Given the description of an element on the screen output the (x, y) to click on. 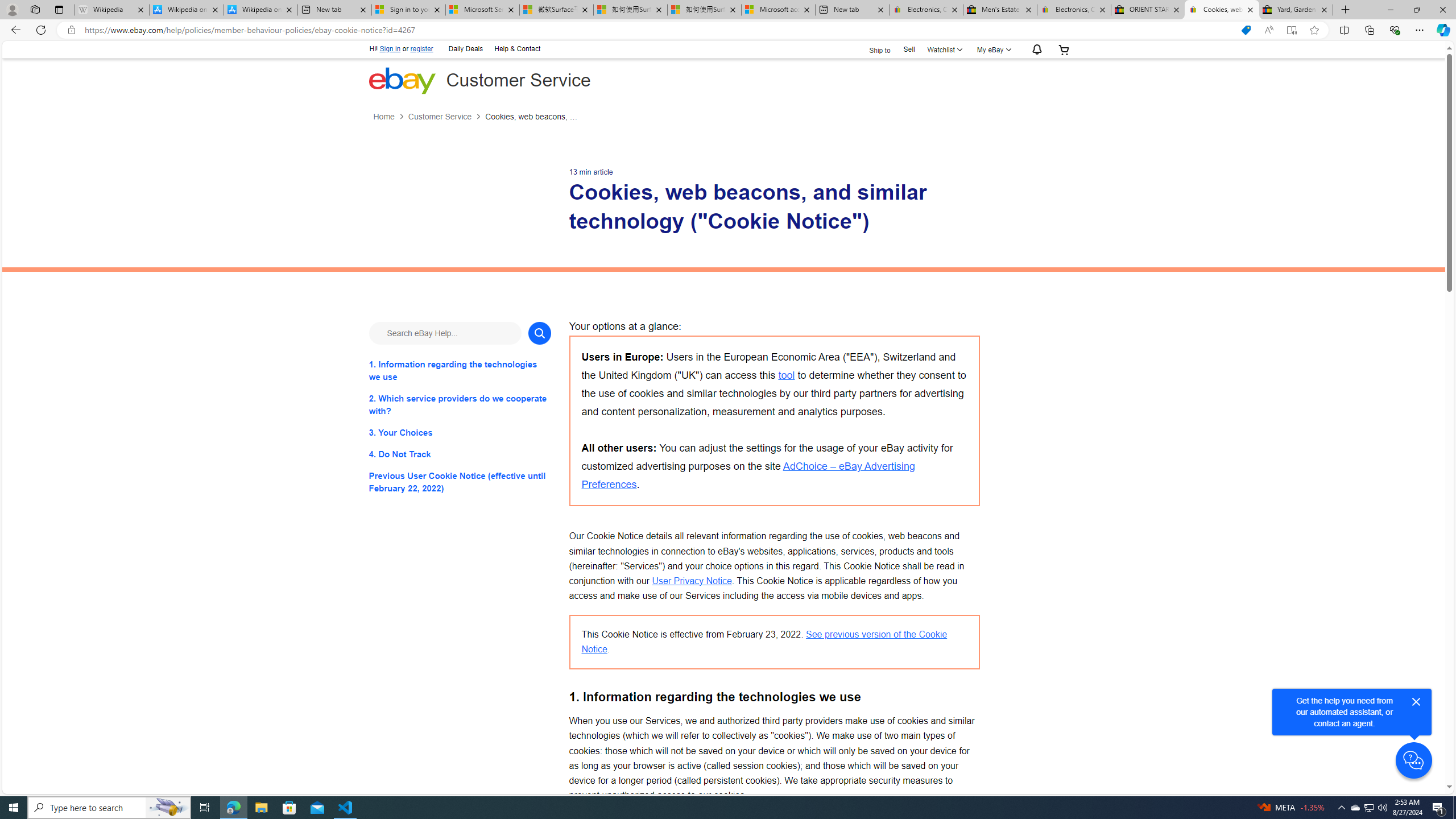
Sign in to your Microsoft account (407, 9)
Yard, Garden & Outdoor Living (1295, 9)
Microsoft account | Account Checkup (777, 9)
Watchlist (943, 49)
eBay Home (401, 80)
